Given the description of an element on the screen output the (x, y) to click on. 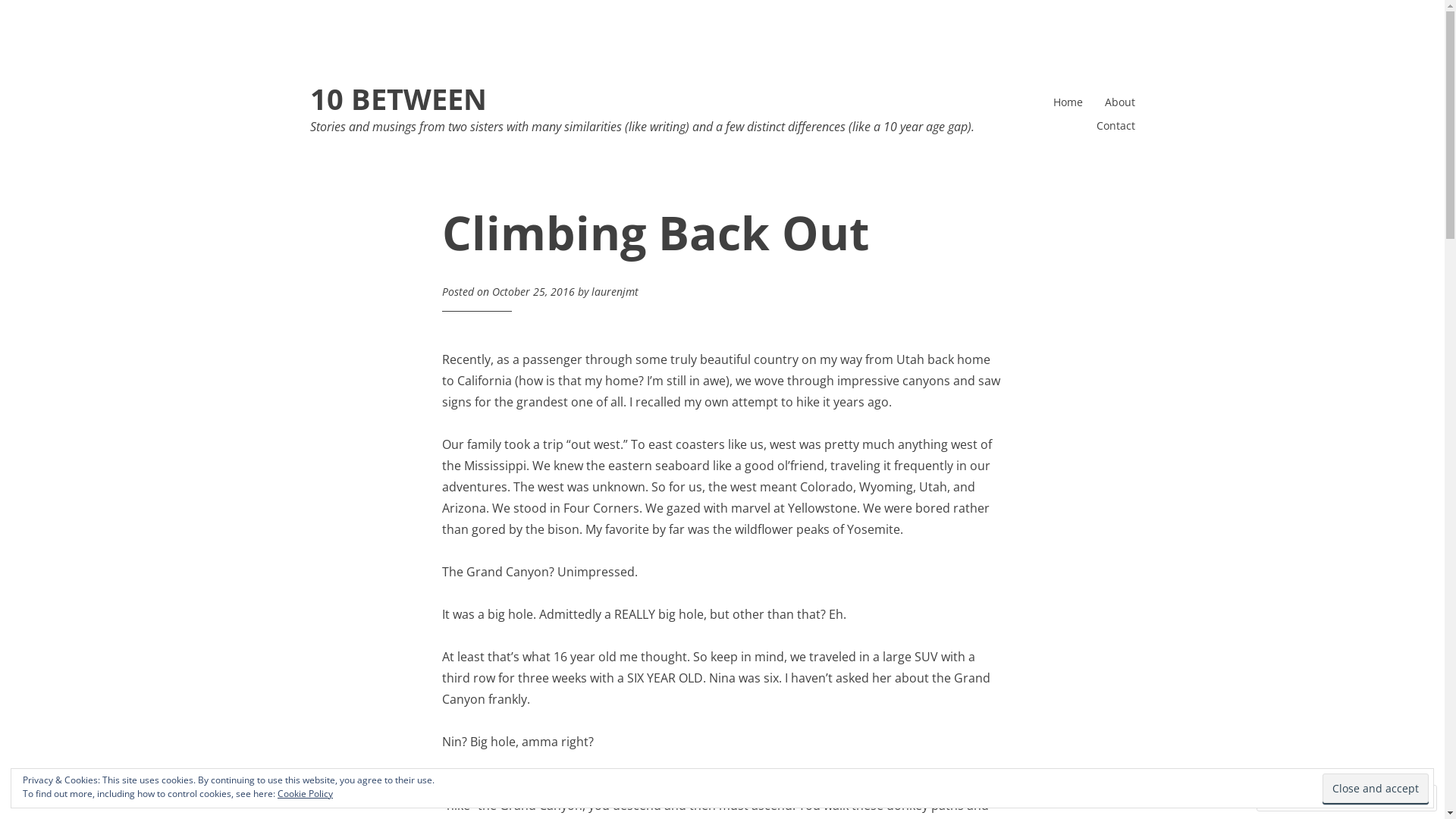
October 25, 2016 Element type: text (533, 291)
Follow Element type: text (1373, 797)
10 BETWEEN Element type: text (397, 98)
Close and accept Element type: text (1375, 788)
Cookie Policy Element type: text (304, 793)
Contact Element type: text (1115, 125)
laurenjmt Element type: text (614, 291)
Home Element type: text (1067, 101)
About Element type: text (1119, 101)
Comment Element type: text (1297, 797)
